Given the description of an element on the screen output the (x, y) to click on. 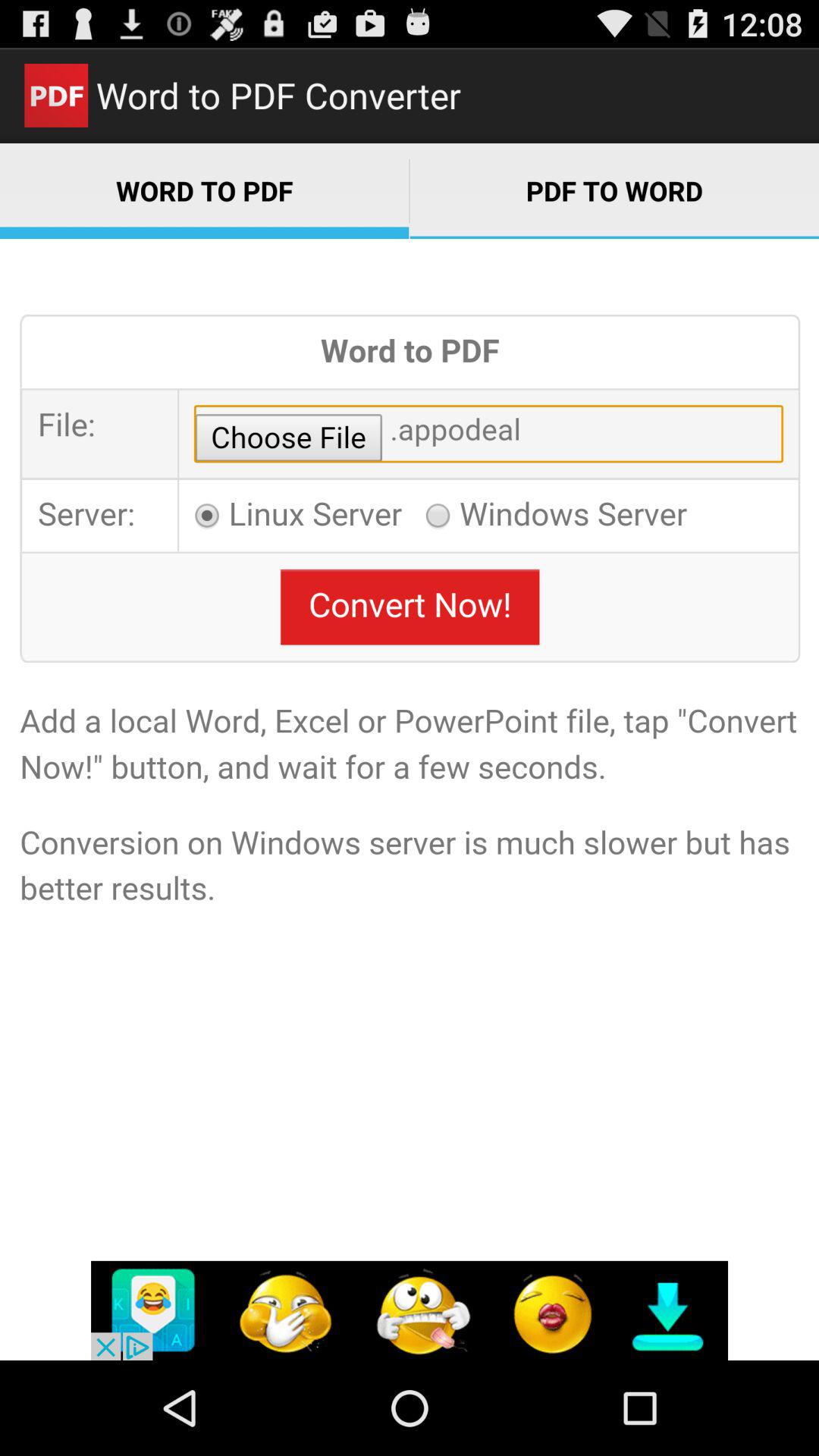
word to pdf main area (409, 799)
